Given the description of an element on the screen output the (x, y) to click on. 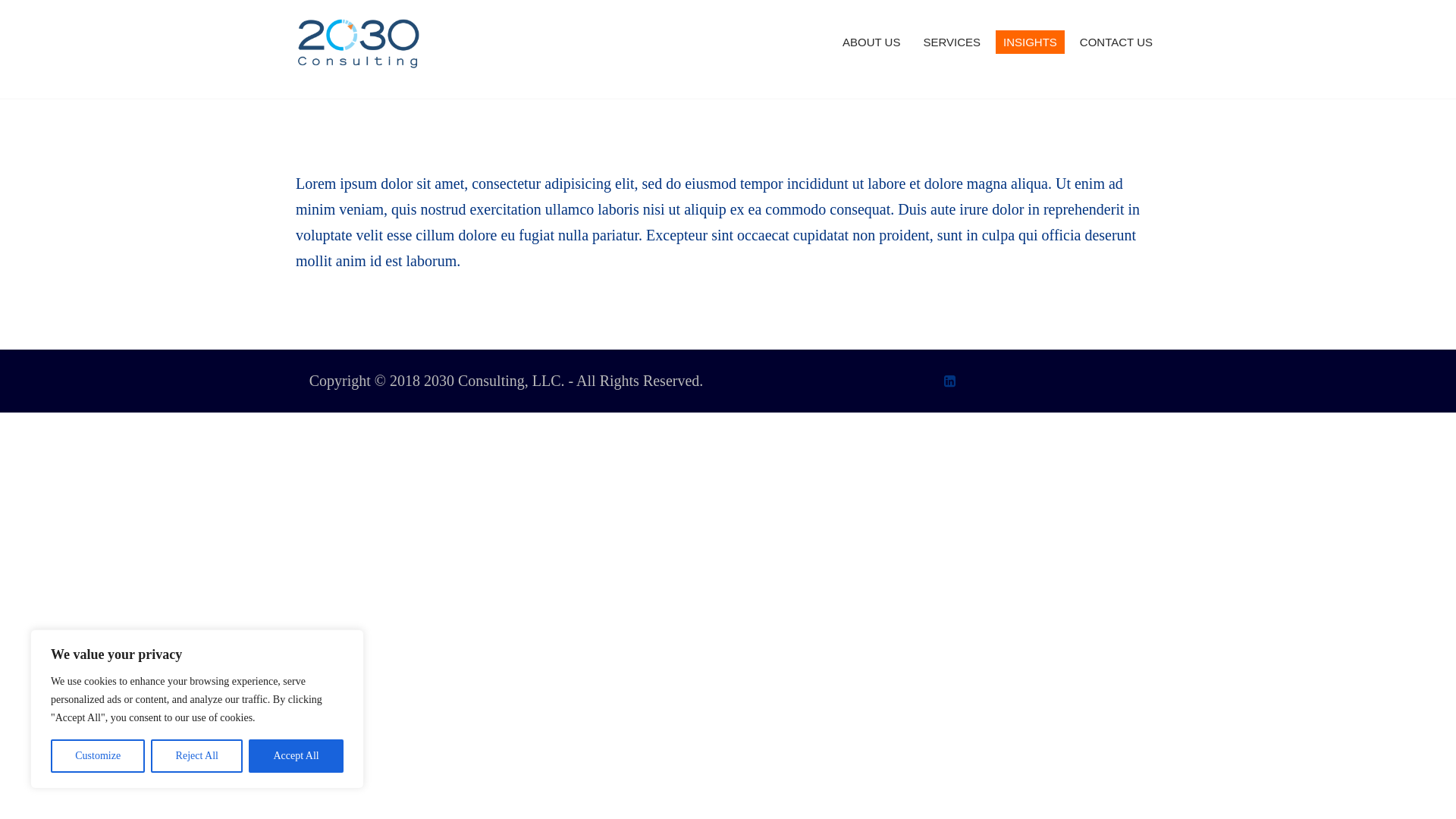
Customize Element type: text (97, 755)
Reject All Element type: text (196, 755)
INSIGHTS Element type: text (1029, 41)
ABOUT US Element type: text (870, 41)
SERVICES Element type: text (951, 41)
Accept All Element type: text (295, 755)
CONTACT US Element type: text (1116, 41)
